Given the description of an element on the screen output the (x, y) to click on. 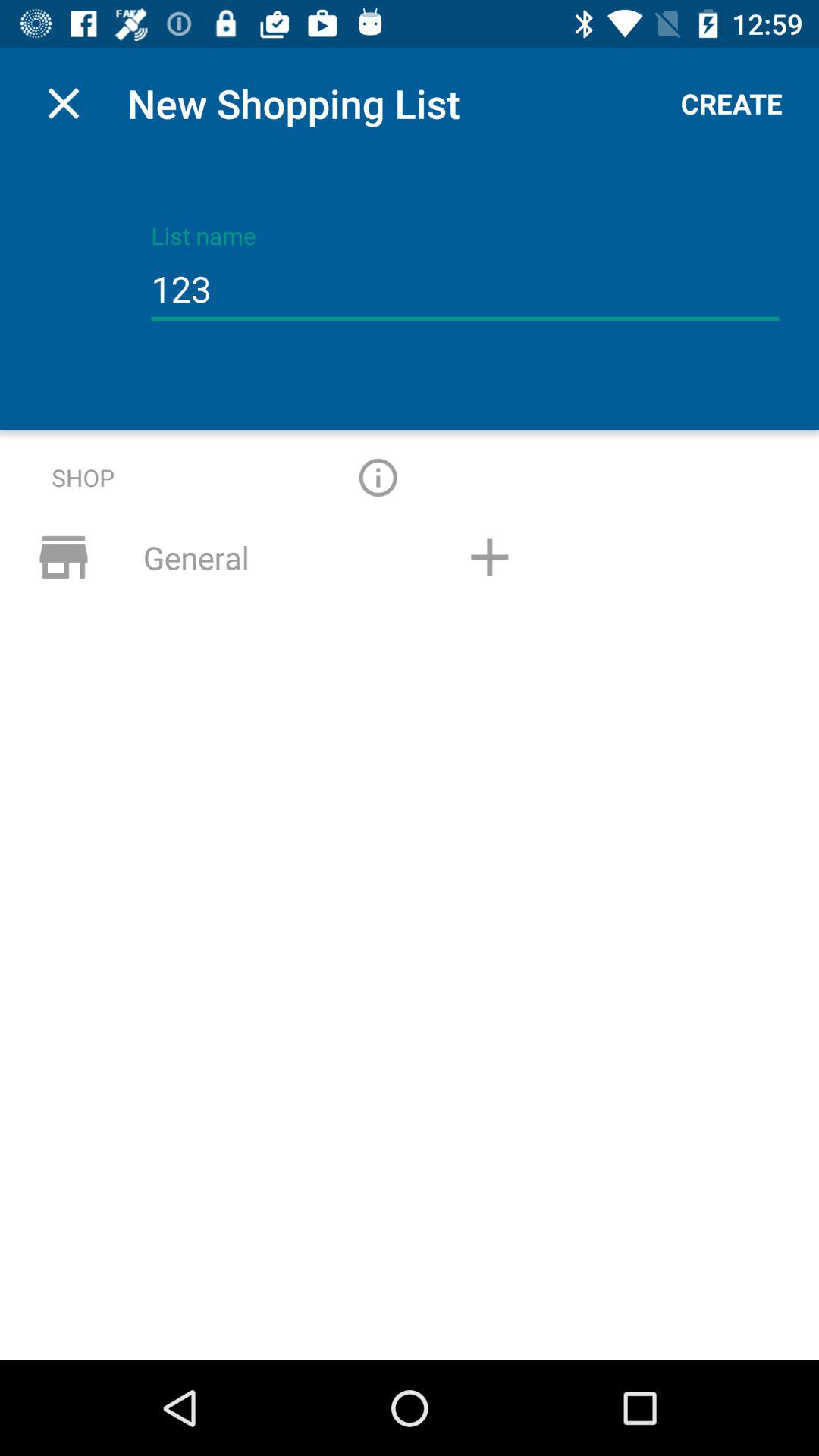
exit current screen (63, 103)
